Given the description of an element on the screen output the (x, y) to click on. 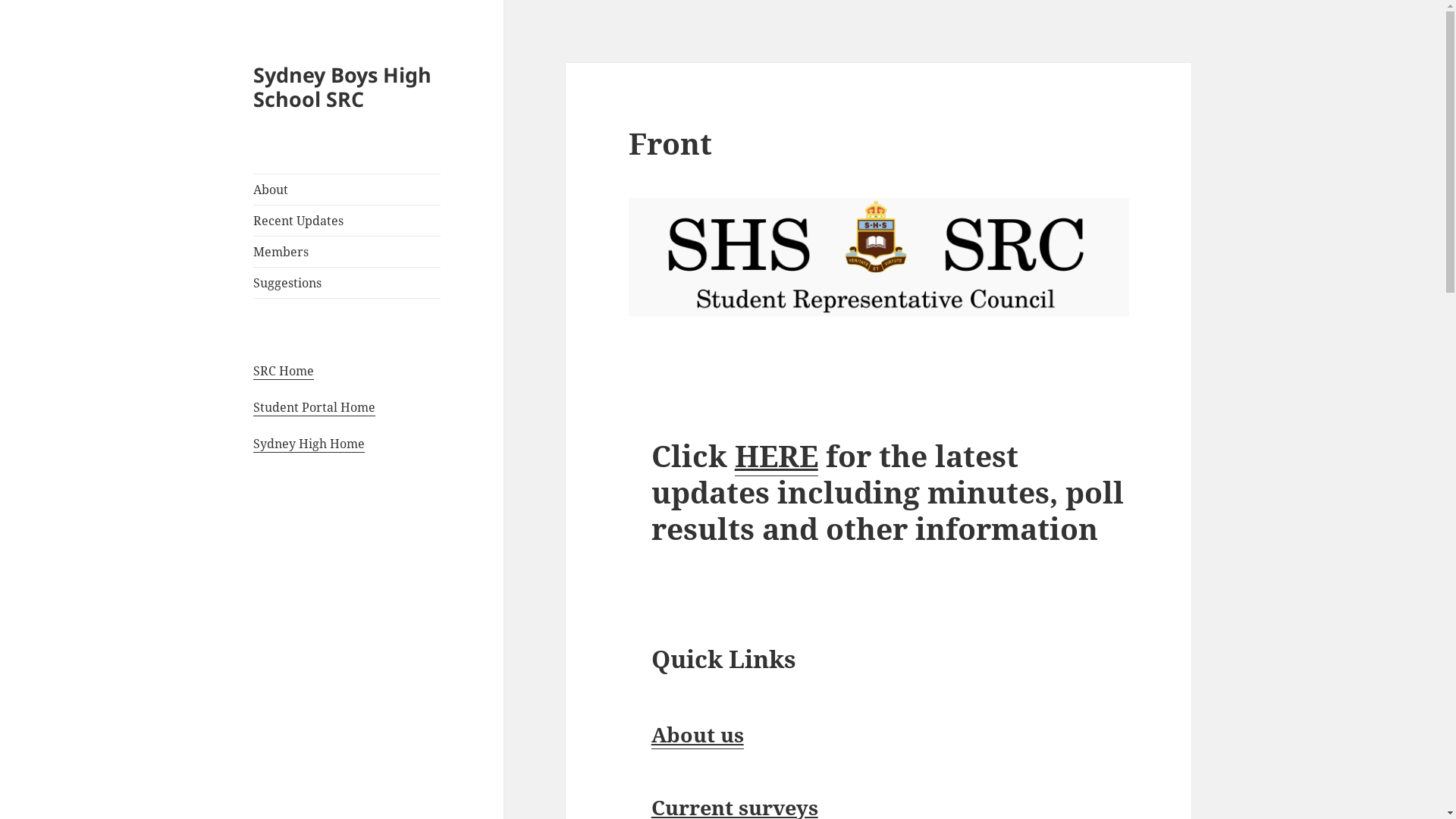
About Element type: text (347, 189)
HERE Element type: text (776, 455)
Student Portal Home Element type: text (314, 407)
Sydney High Home Element type: text (308, 443)
Sydney Boys High School SRC Element type: text (342, 86)
Suggestions Element type: text (347, 282)
SRC Home Element type: text (283, 370)
About us Element type: text (697, 734)
Recent Updates Element type: text (347, 220)
Members Element type: text (347, 251)
